Given the description of an element on the screen output the (x, y) to click on. 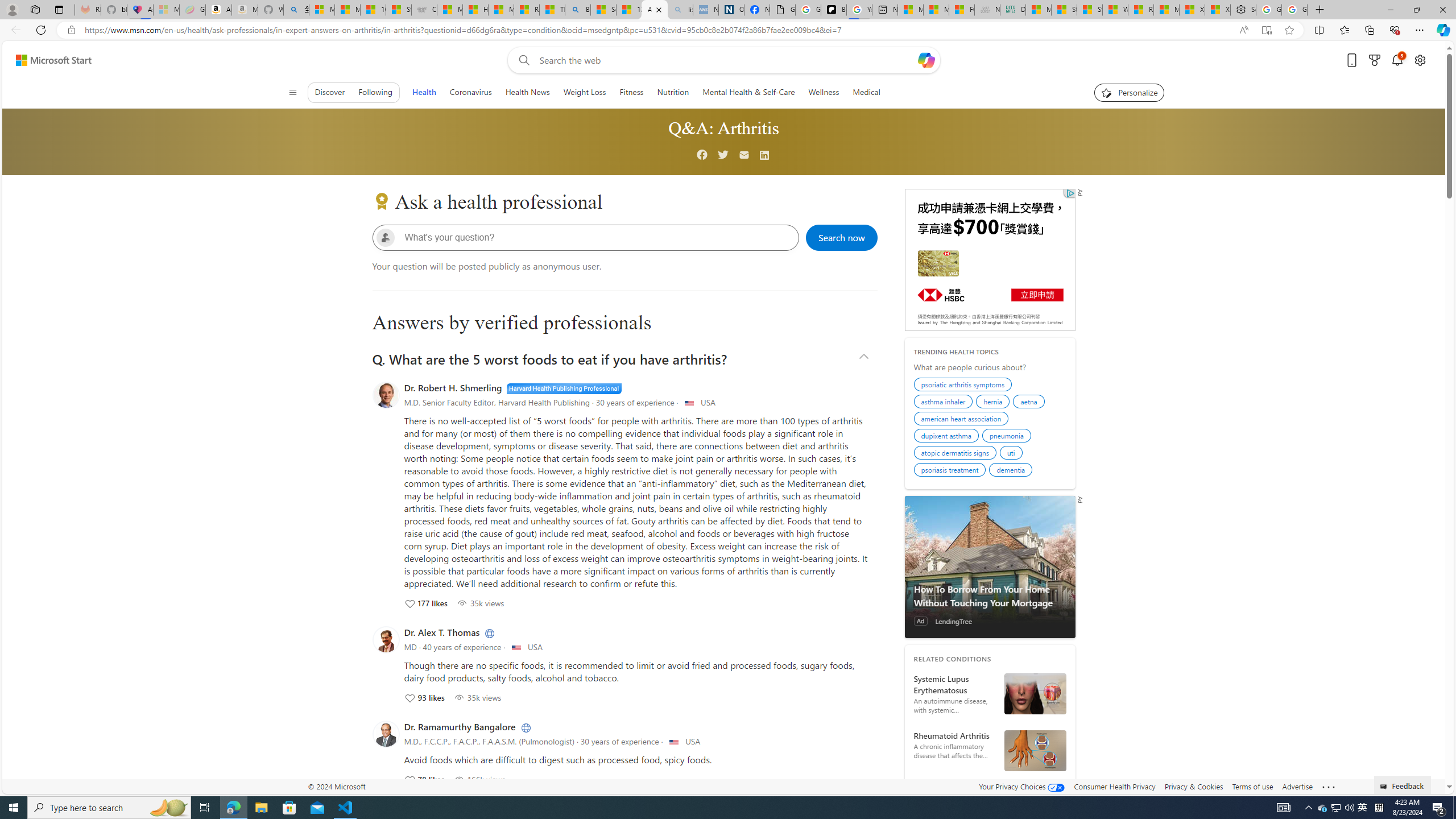
Privacy & Cookies (1193, 786)
doctorIconRound (385, 733)
Health (423, 92)
Coronavirus (470, 92)
78 Like; Click to Like (423, 779)
Your Privacy Choices (1021, 785)
uti (1012, 453)
How I Got Rid of Microsoft Edge's Unnecessary Features (475, 9)
